Given the description of an element on the screen output the (x, y) to click on. 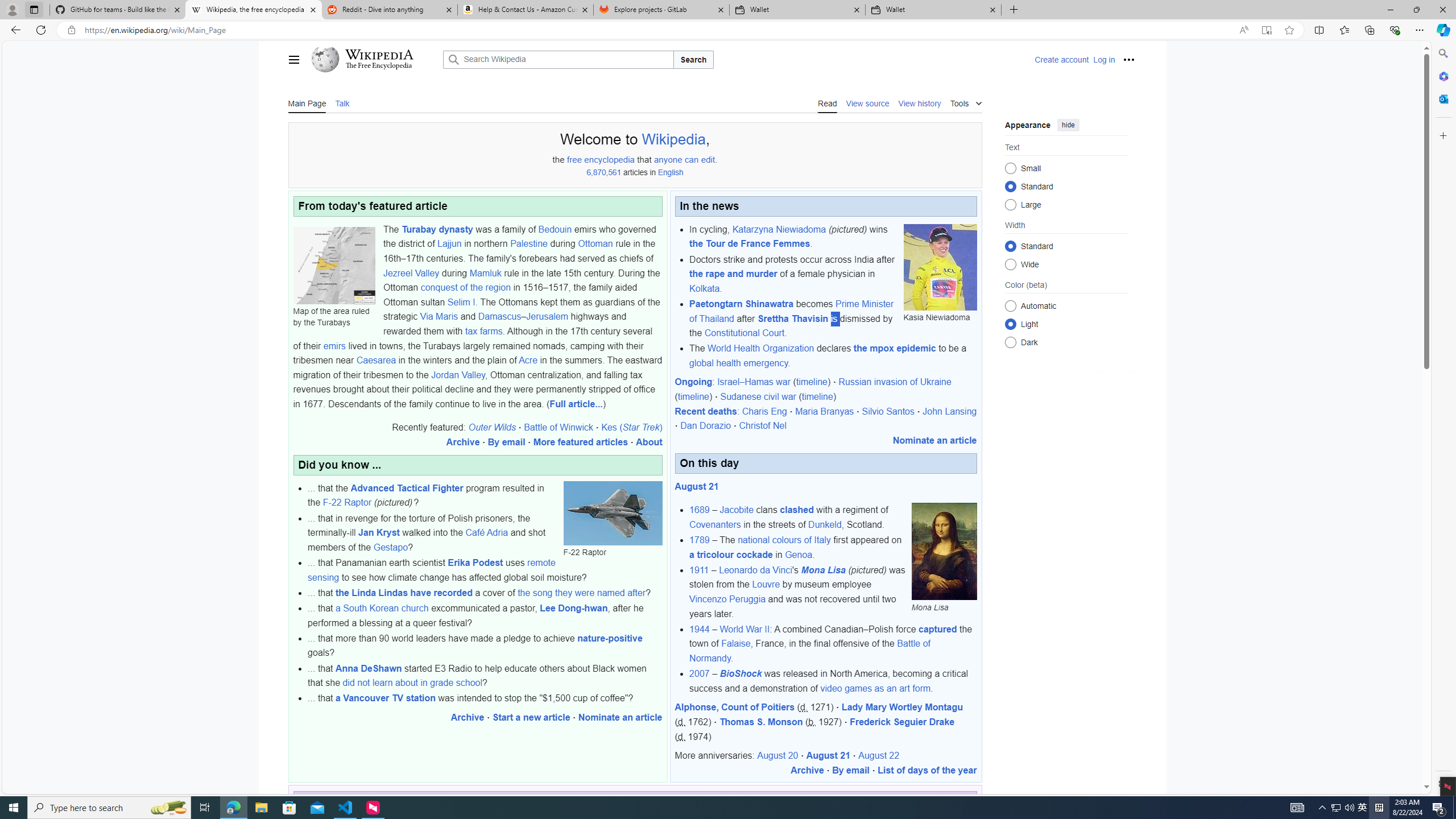
Help & Contact Us - Amazon Customer Service (525, 9)
Read (827, 102)
Kes (Star Trek) (631, 427)
Jan Kryst (379, 532)
Recent deaths (705, 411)
a tricolour cockade (730, 554)
World Health Organization (760, 348)
Map of the area ruled by the Turabays (333, 265)
More featured articles (580, 442)
(timeline) (817, 396)
Jacobite (736, 510)
Small (1010, 167)
